Given the description of an element on the screen output the (x, y) to click on. 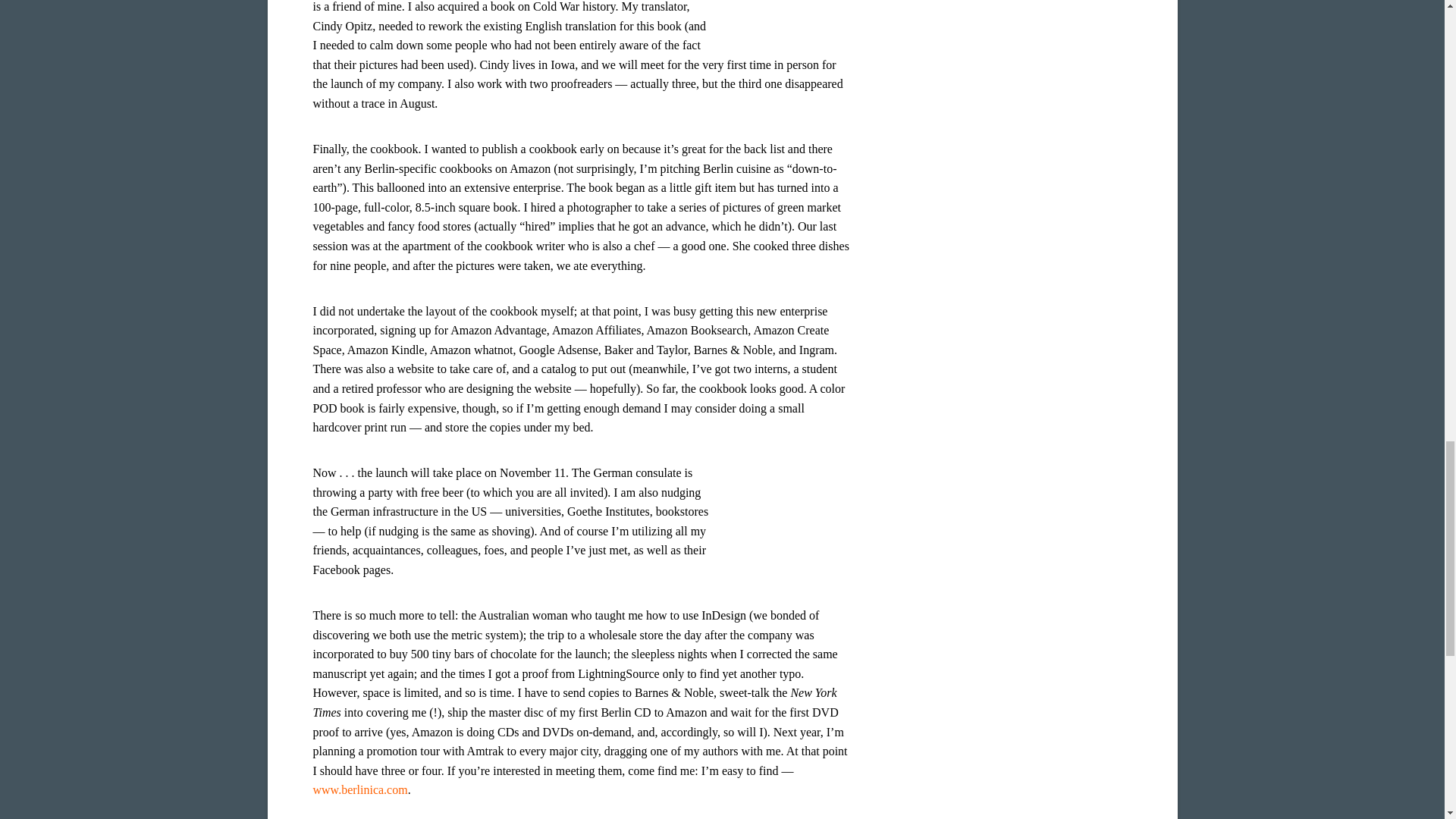
Berlin Young People (793, 524)
BerlinForFreeNew (794, 18)
www.berlinica.com (360, 789)
